Given the description of an element on the screen output the (x, y) to click on. 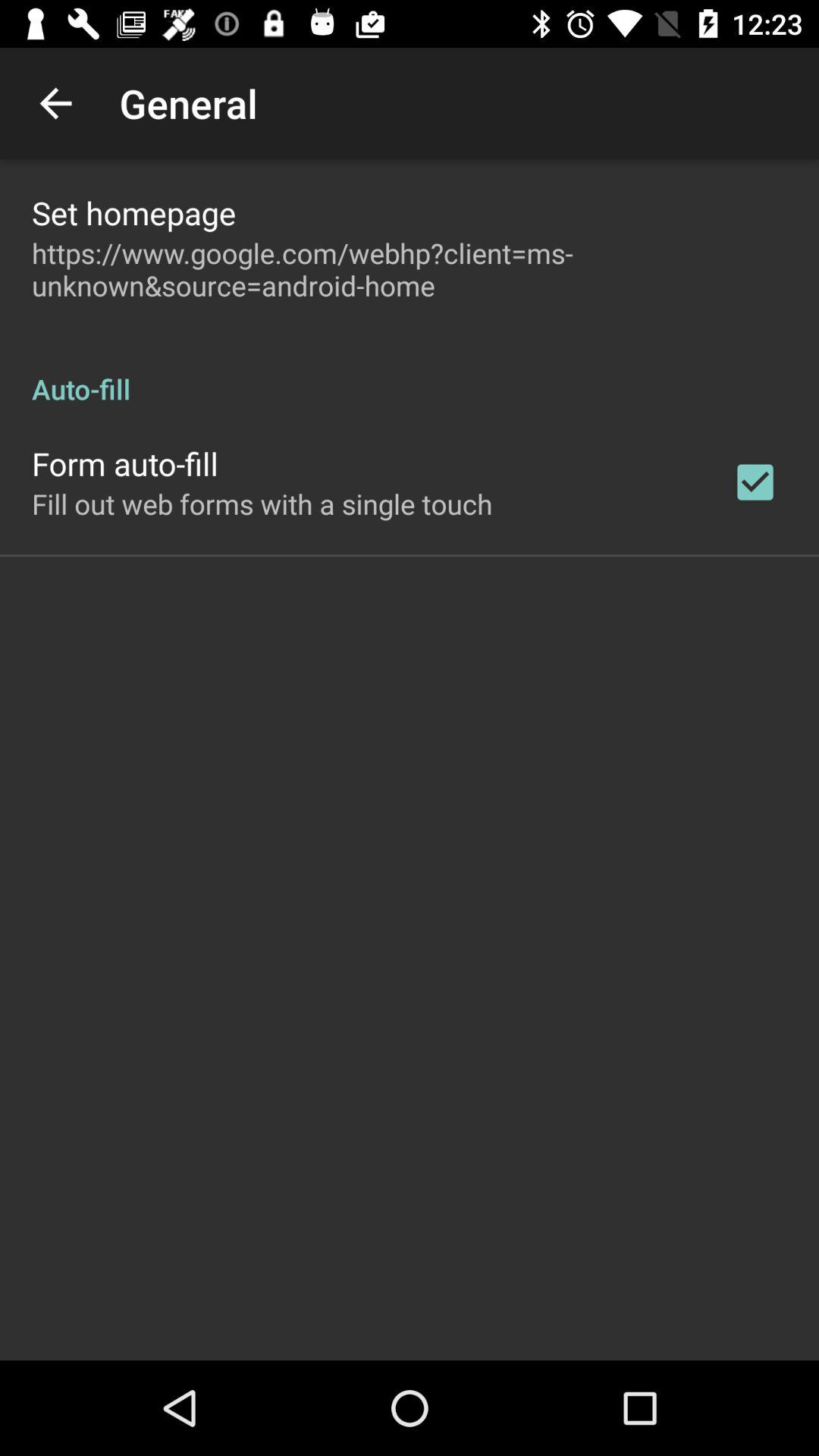
launch the app above the auto-fill (409, 269)
